Given the description of an element on the screen output the (x, y) to click on. 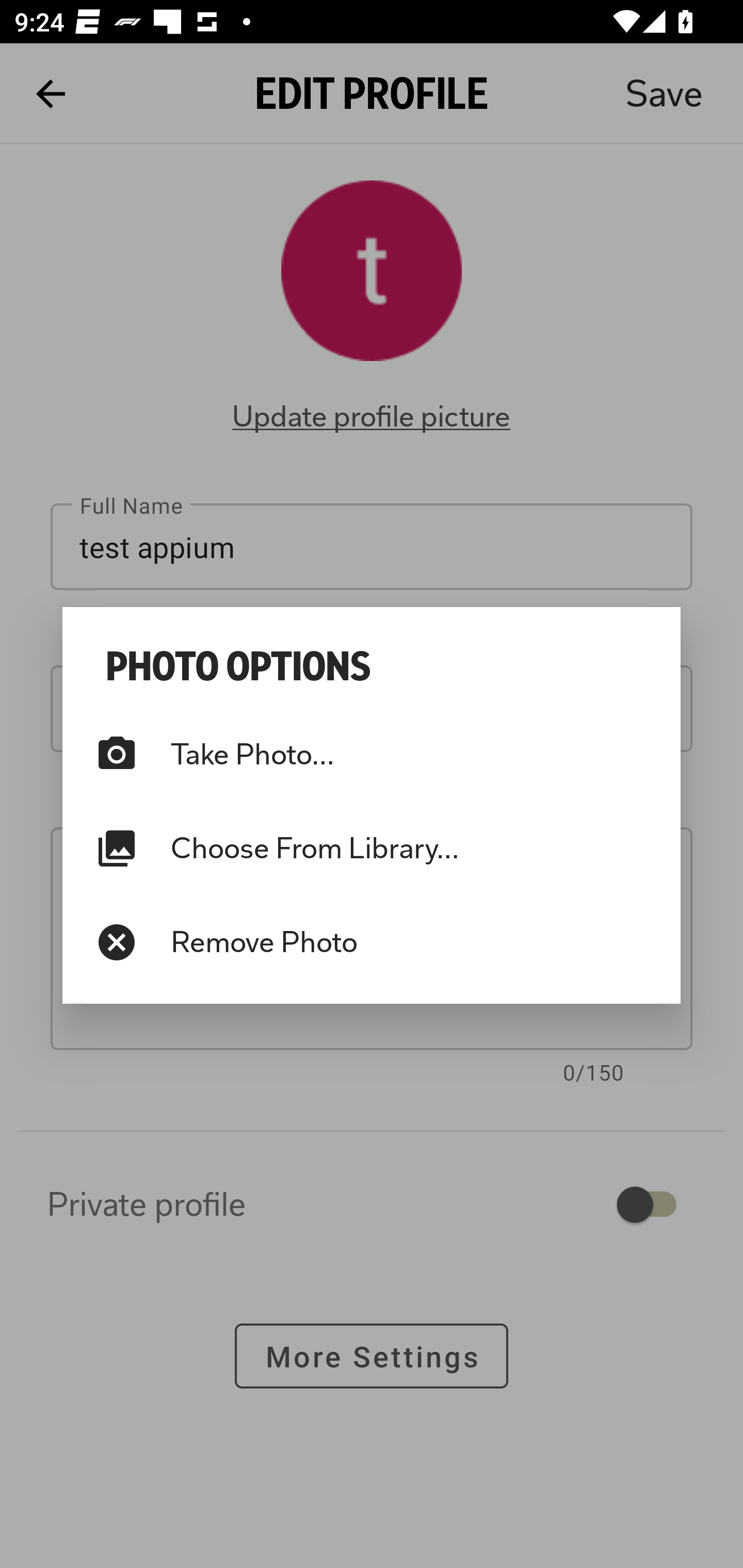
Take Photo… (371, 754)
Choose From Library… (371, 848)
Remove Photo (371, 942)
